Given the description of an element on the screen output the (x, y) to click on. 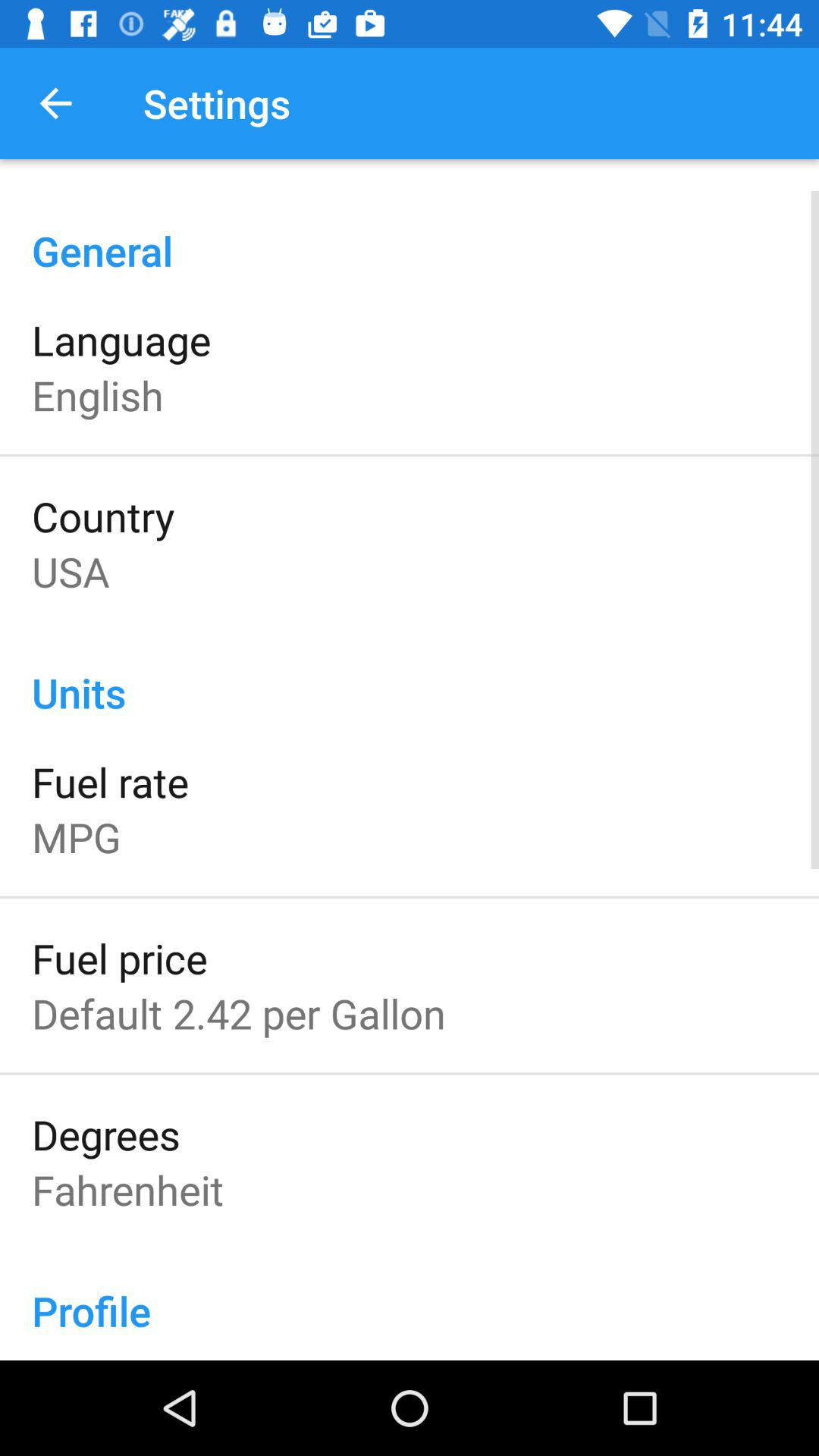
press the fahrenheit (127, 1189)
